Given the description of an element on the screen output the (x, y) to click on. 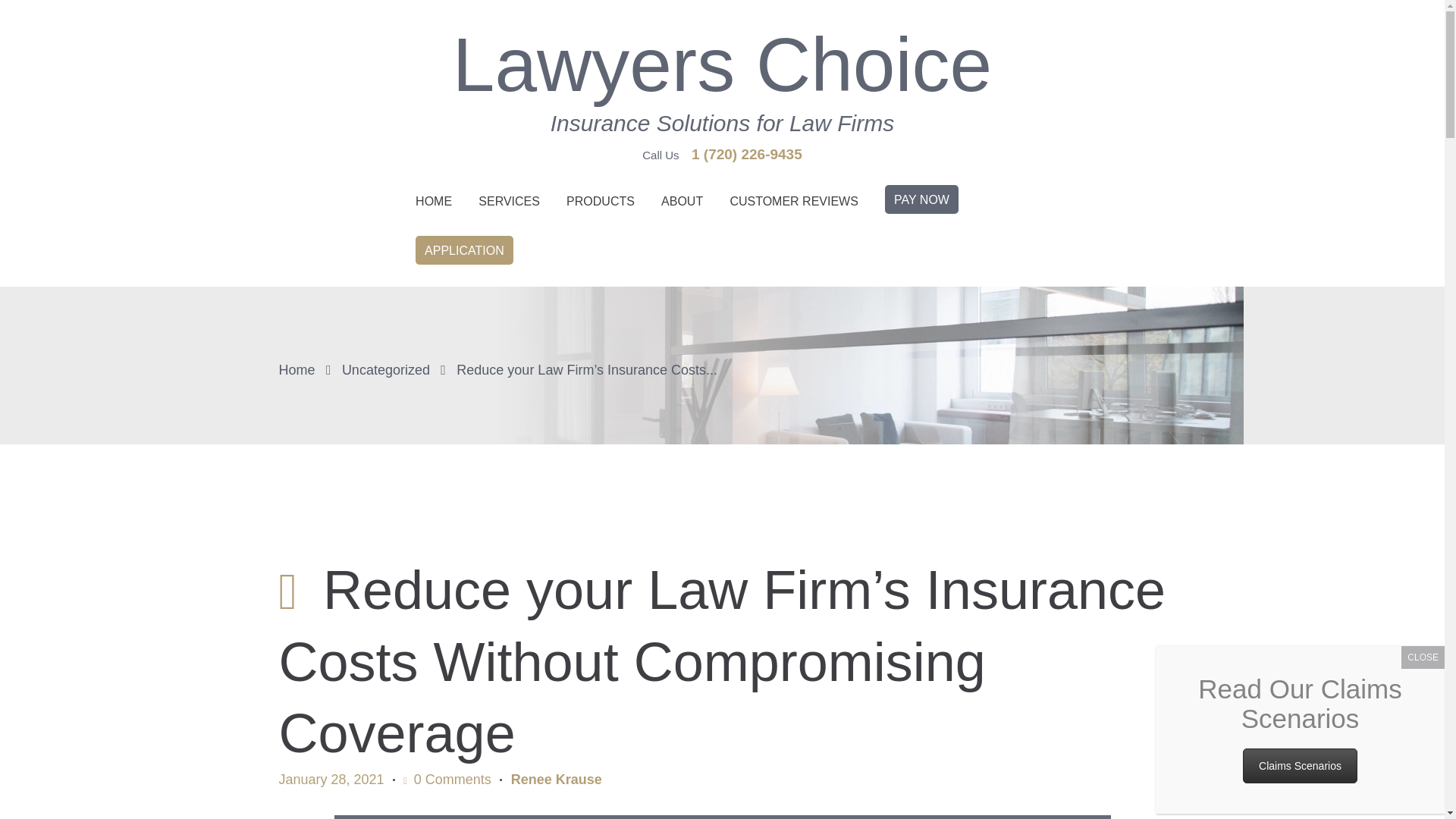
Comments - 0 (446, 780)
CUSTOMER REVIEWS (794, 201)
0 Comments (446, 780)
Home (297, 370)
PAY NOW (920, 204)
Uncategorized (385, 370)
HOME (432, 201)
SERVICES (509, 201)
Renee Krause (556, 779)
APPLICATION (463, 255)
ABOUT (681, 201)
January 28, 2021 (331, 779)
PRODUCTS (600, 201)
